Given the description of an element on the screen output the (x, y) to click on. 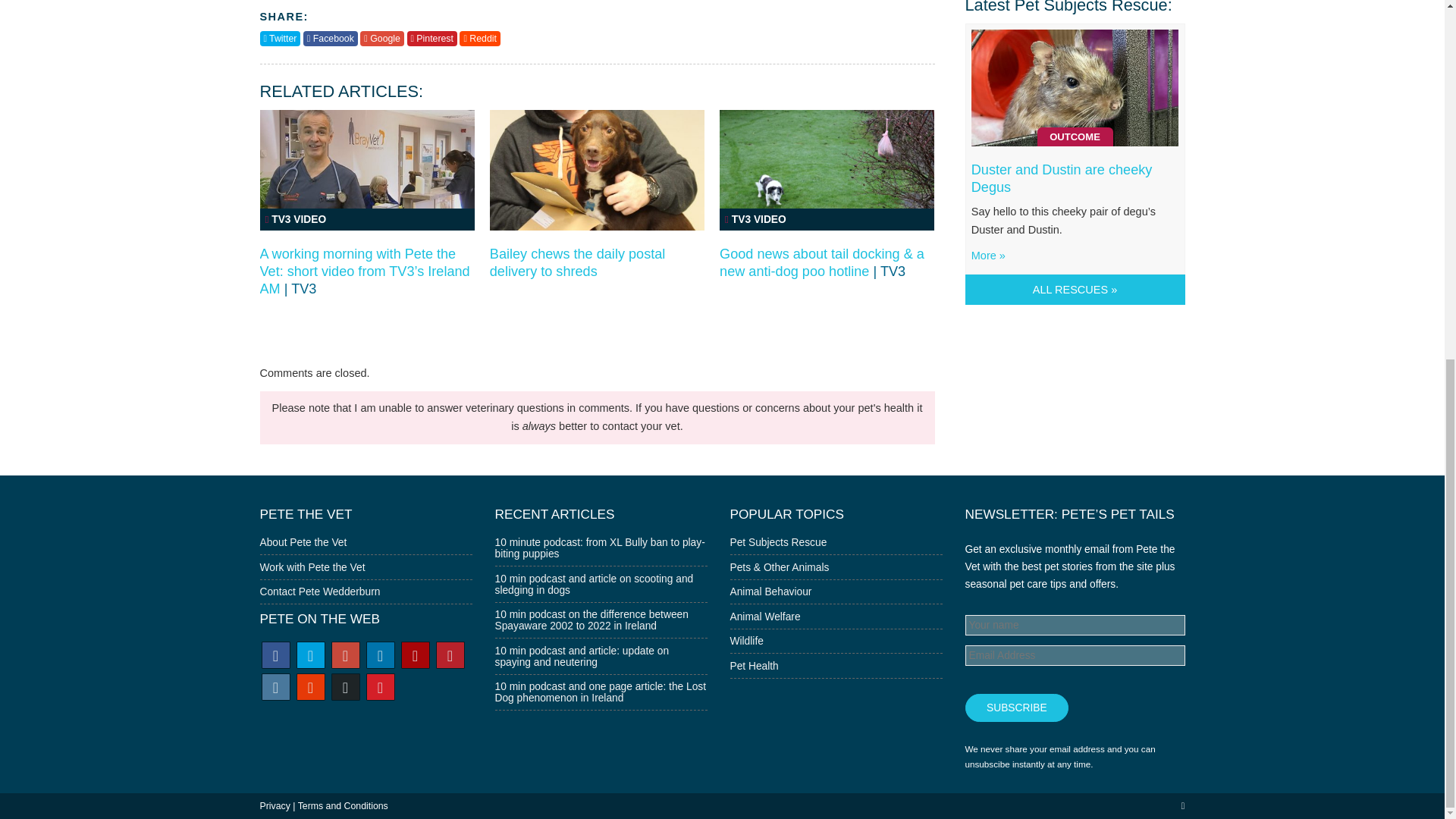
Find Pete on Facebook (274, 657)
Bailey chews the daily postal delivery to shreds (577, 262)
Pete's YouTube Channel (414, 657)
Pinterest (431, 38)
Follow Pete on Twitter (309, 657)
Pete on Soundcloud (309, 689)
Pete's pins (449, 657)
Pete's Instagram (274, 689)
Reddit (479, 38)
Pete on LinkedIn (379, 657)
Pete on Newstalk (604, 517)
Back to top (1182, 805)
Pete in the Daily Telegraph (344, 689)
Pete on Newstalk (379, 689)
Pete's GooglePlus Page (344, 657)
